Given the description of an element on the screen output the (x, y) to click on. 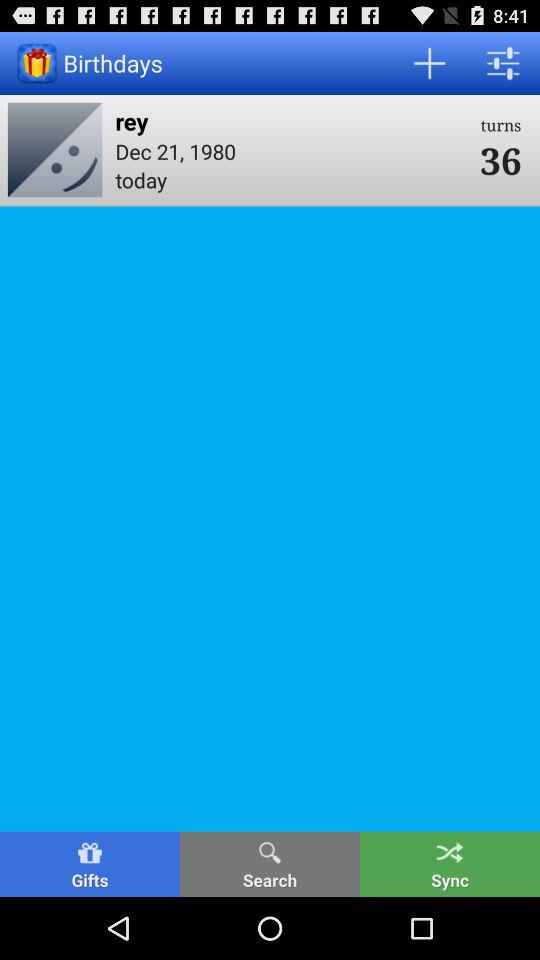
swipe until dec 21, 1980 item (291, 150)
